Given the description of an element on the screen output the (x, y) to click on. 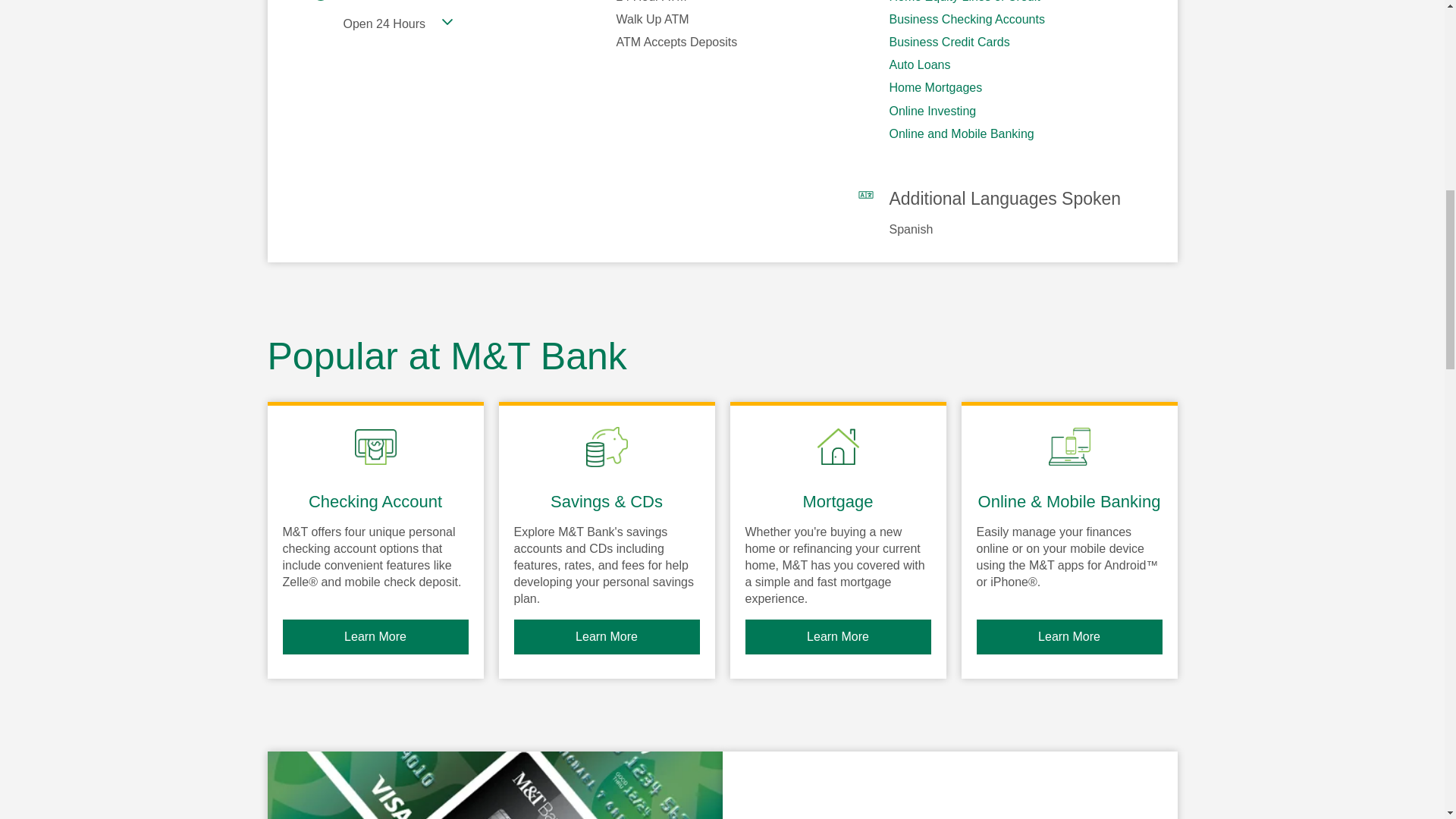
Home Equity Lines of Credit (963, 1)
Business Checking Accounts (965, 19)
Open 24 Hours (397, 23)
Auto Loans (919, 64)
Home Mortgages (934, 87)
Business Credit Cards (948, 42)
